Given the description of an element on the screen output the (x, y) to click on. 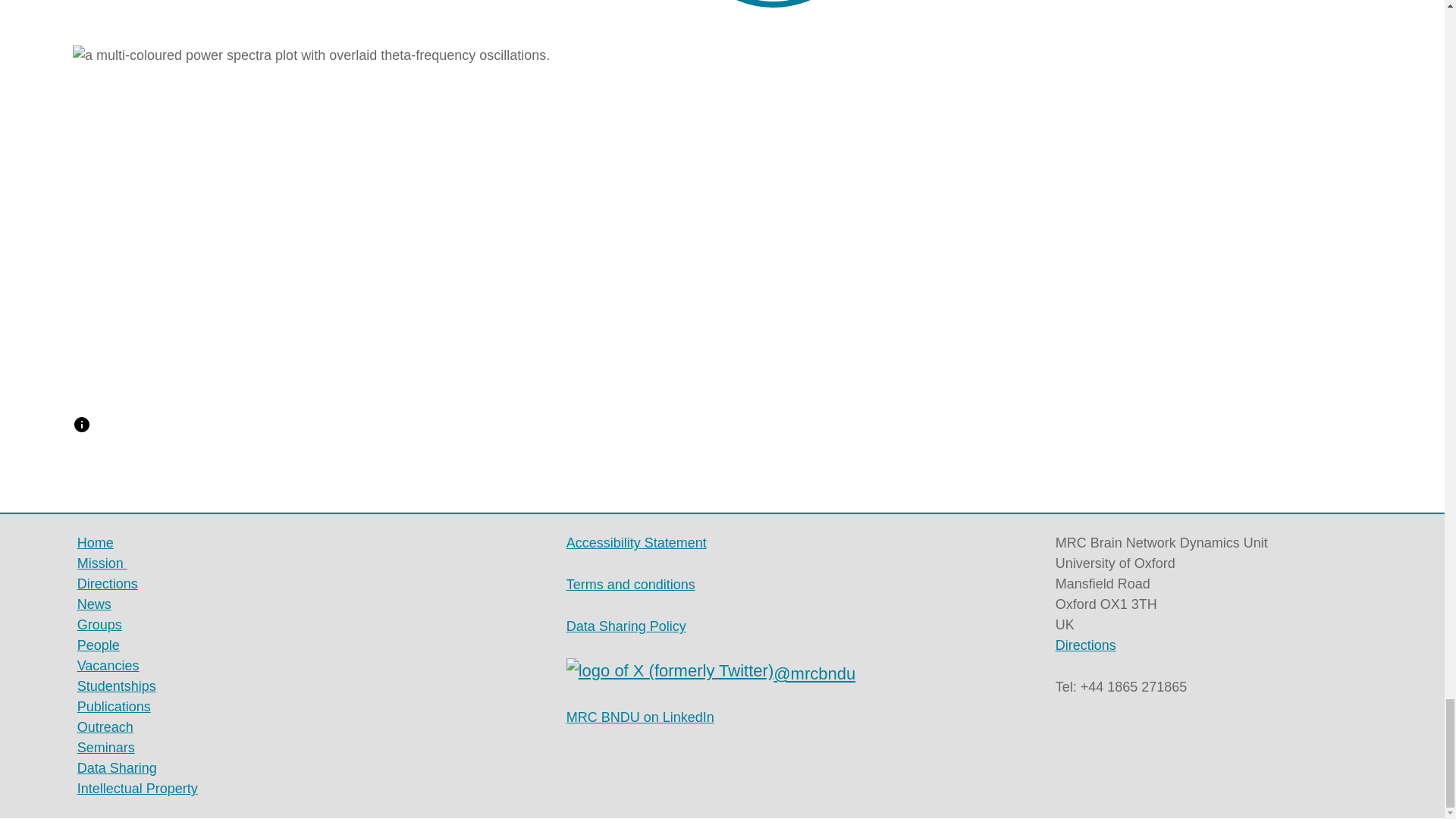
MRC BNDU on LinkedIn (640, 717)
People (98, 645)
Accessibility Statement (636, 542)
Data Sharing Policy (625, 626)
Outreach (105, 726)
Publications (114, 706)
Mission  (102, 563)
Vacancies (108, 665)
Seminars (106, 747)
News (94, 604)
Groups (99, 624)
Data Sharing (117, 767)
Intellectual Property (137, 788)
Studentships (116, 685)
Terms and conditions (630, 584)
